Given the description of an element on the screen output the (x, y) to click on. 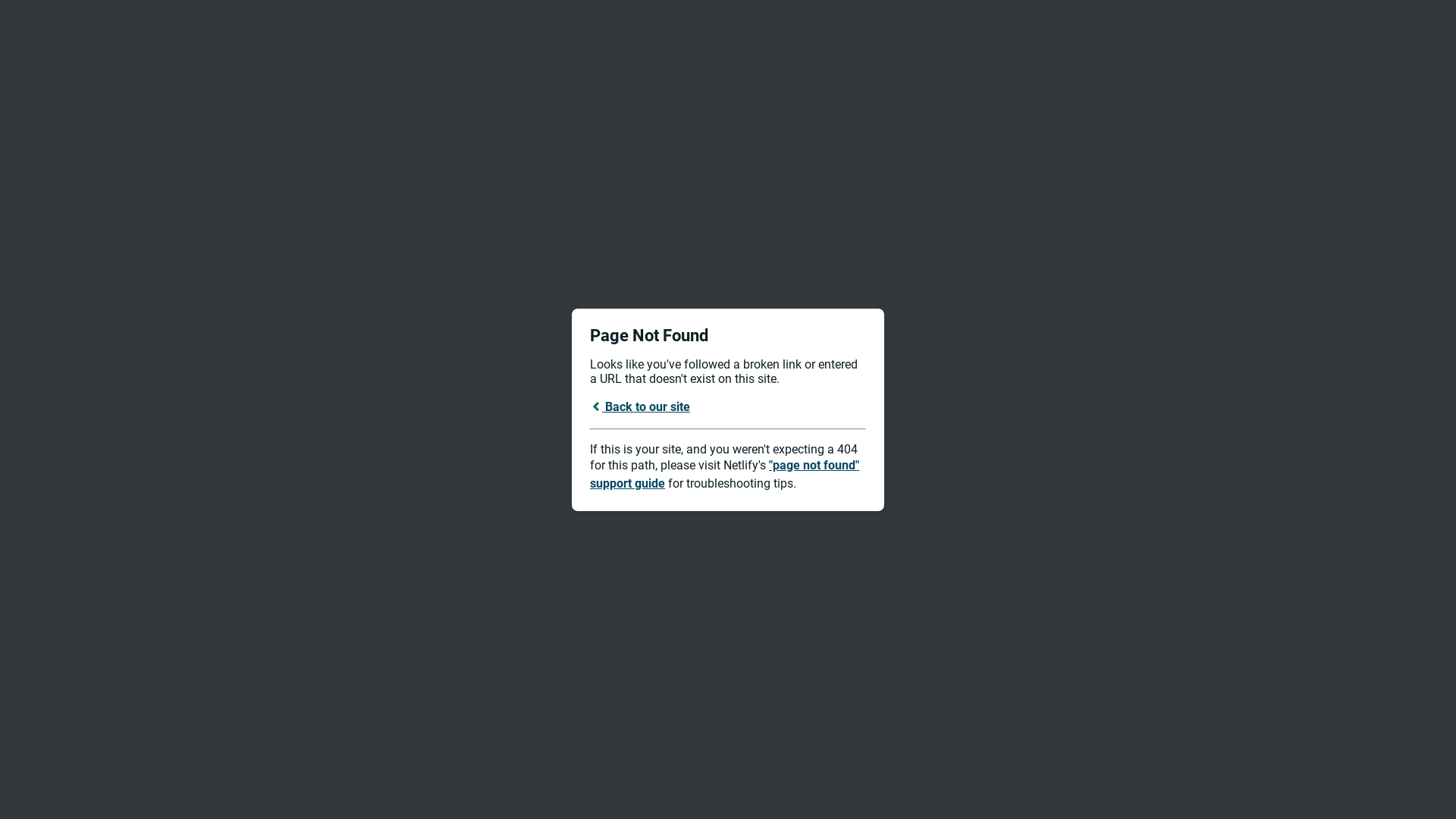
"page not found" support guide Element type: text (724, 474)
Back to our site Element type: text (639, 405)
